Given the description of an element on the screen output the (x, y) to click on. 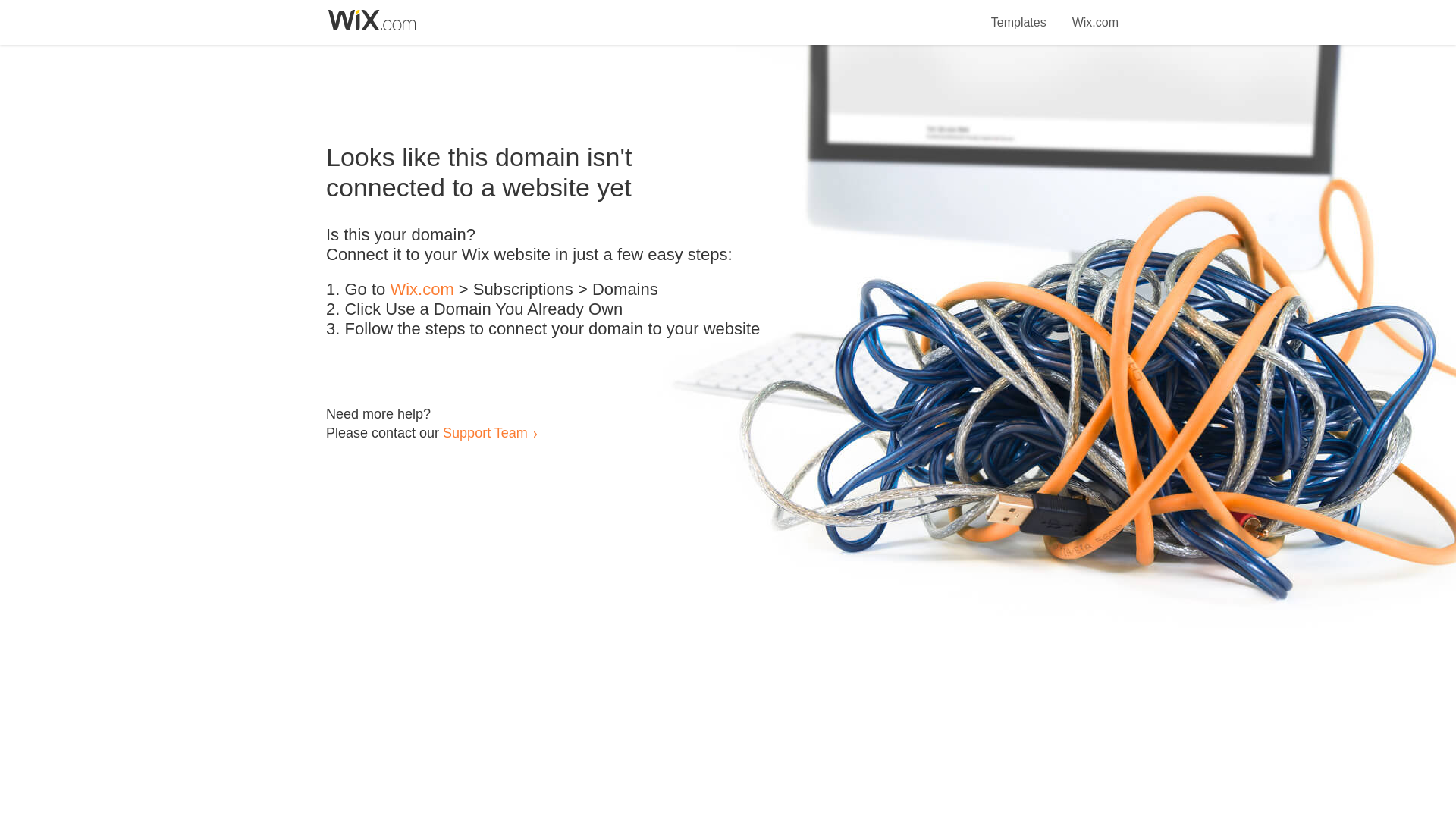
Templates (1018, 14)
Support Team (484, 432)
Wix.com (1095, 14)
Wix.com (421, 289)
